Given the description of an element on the screen output the (x, y) to click on. 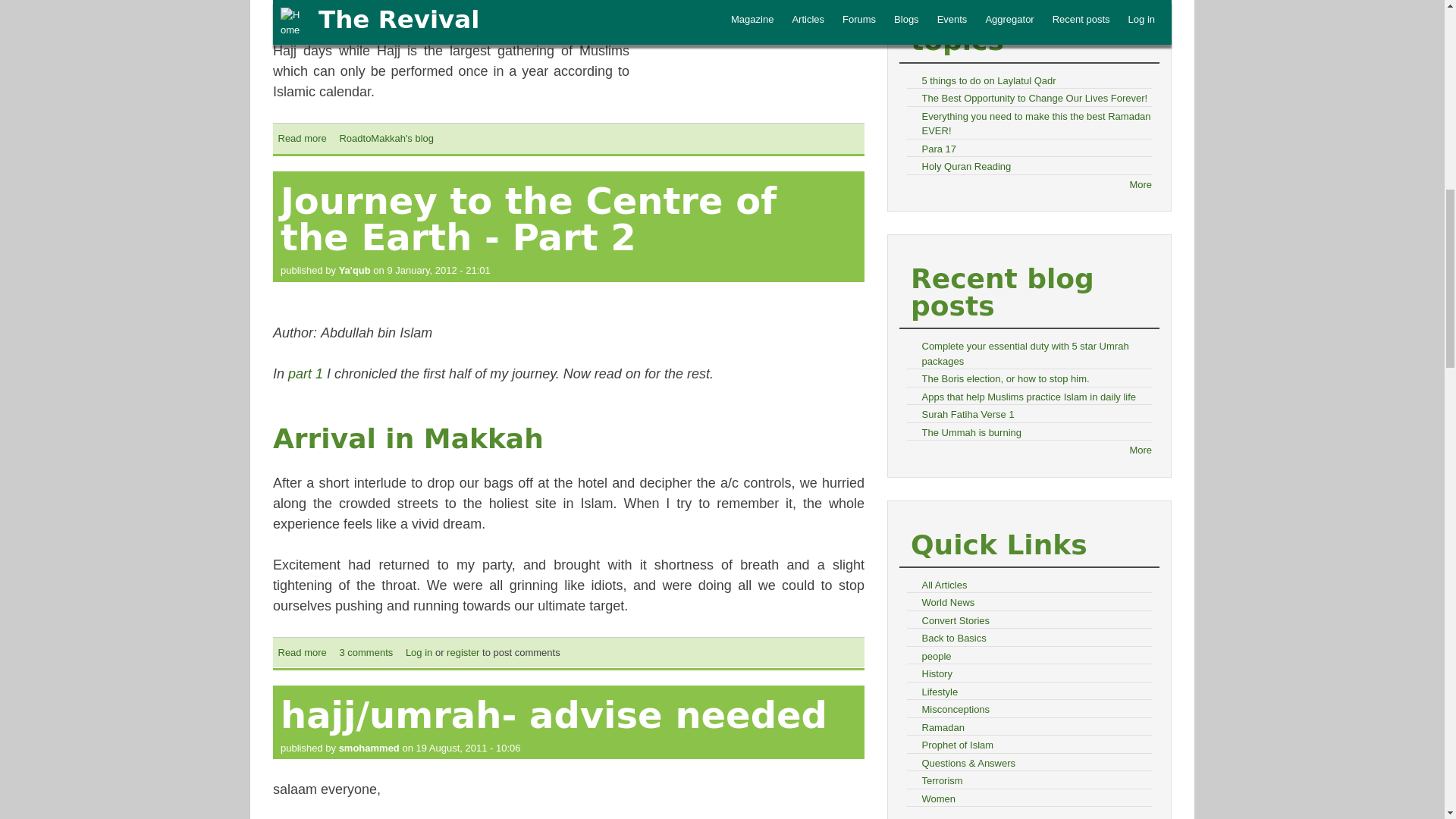
View user profile. (355, 270)
Ramadan Umrah Packages 2018 (302, 138)
smohammed (368, 747)
register (302, 651)
Log in (462, 651)
Journey to the Centre of the Earth - Part 2 (302, 138)
Ramadan Umrah packages (419, 651)
Ramadan Umrah Packages 2018 (528, 218)
RoadtoMakkah's blog (356, 9)
3 comments (750, 37)
Ya'qub (386, 138)
part 1 (366, 651)
Read RoadtoMakkah's latest blog entries. (355, 270)
